Given the description of an element on the screen output the (x, y) to click on. 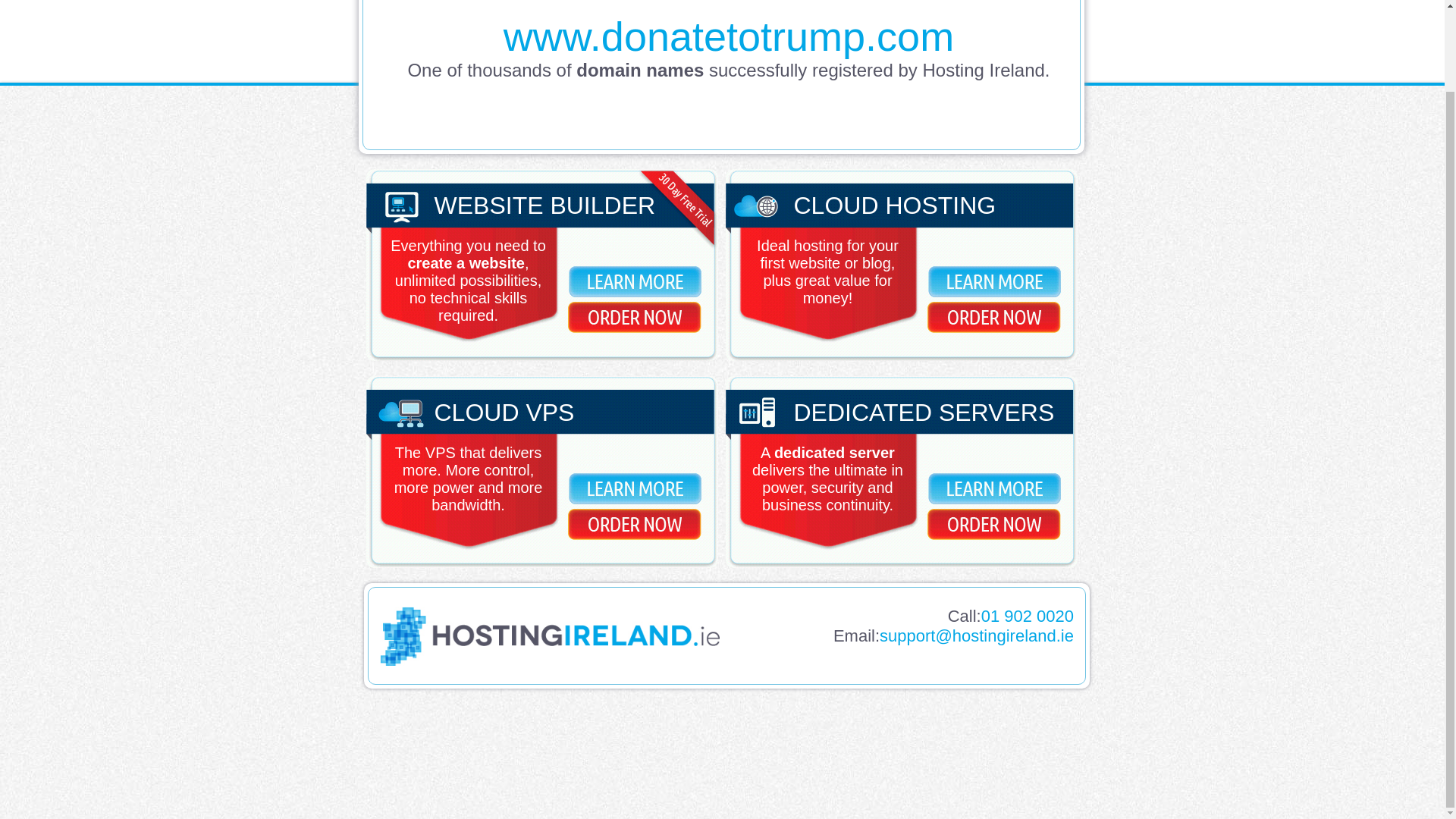
Hosting Ireland Home (549, 661)
domain names (639, 69)
create a website (465, 262)
dedicated server (834, 452)
